Given the description of an element on the screen output the (x, y) to click on. 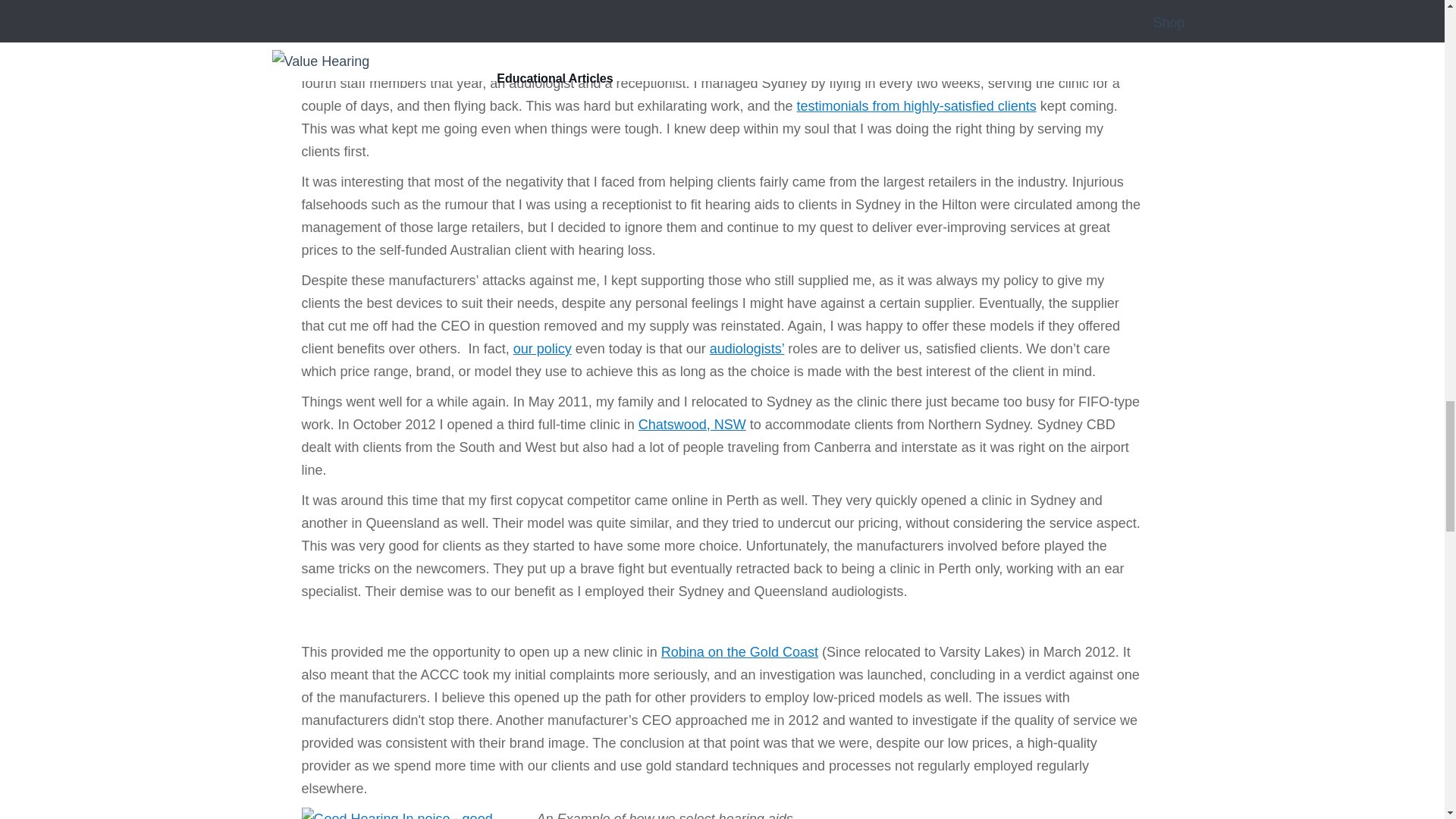
Chatswood, NSW (692, 424)
Robina on the Gold Coast (739, 652)
95 Pitt Street, Sydney (898, 60)
our policy (542, 348)
testimonials from highly-satisfied clients (916, 105)
